Given the description of an element on the screen output the (x, y) to click on. 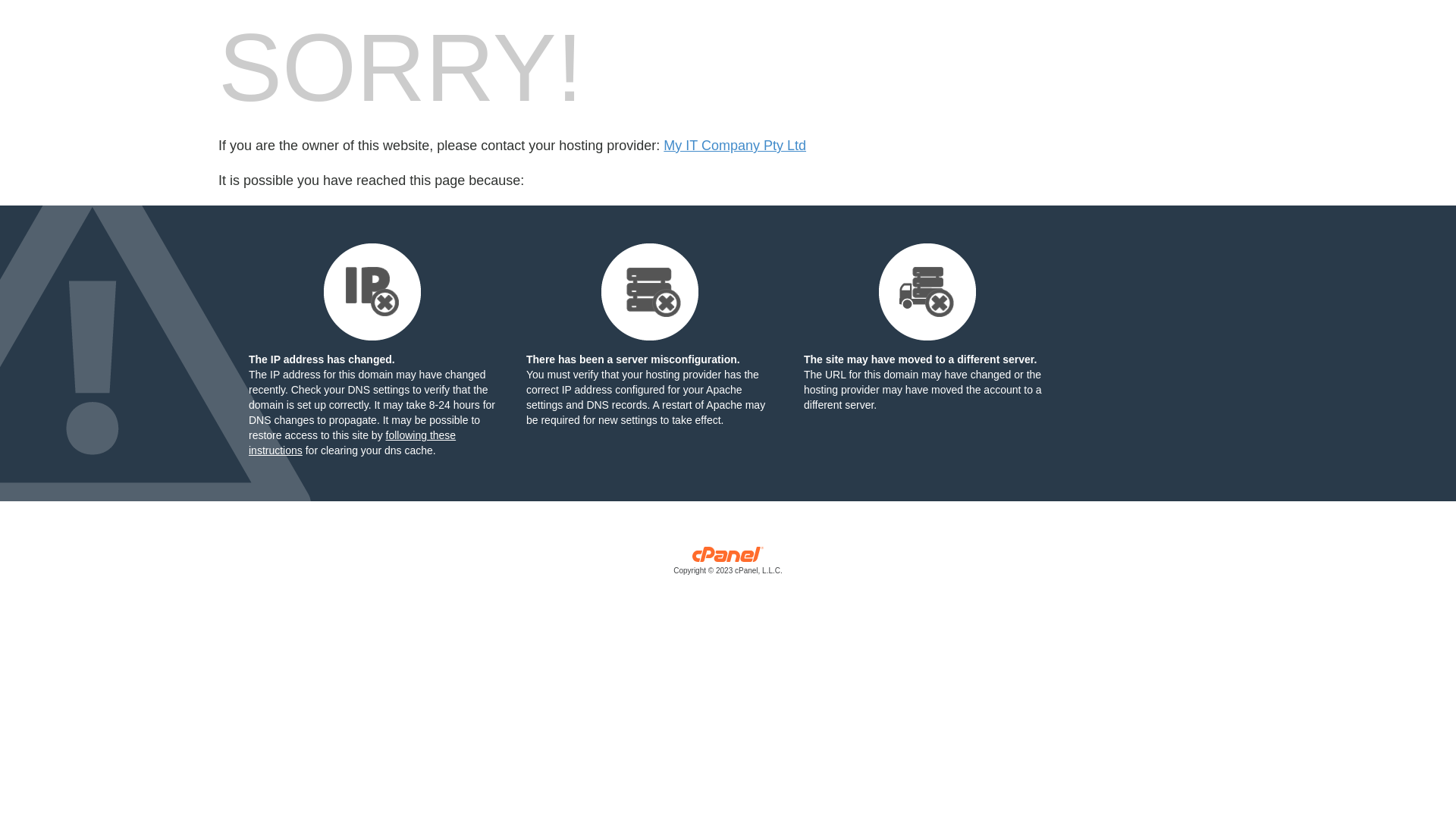
following these instructions Element type: text (351, 442)
My IT Company Pty Ltd Element type: text (734, 145)
